Given the description of an element on the screen output the (x, y) to click on. 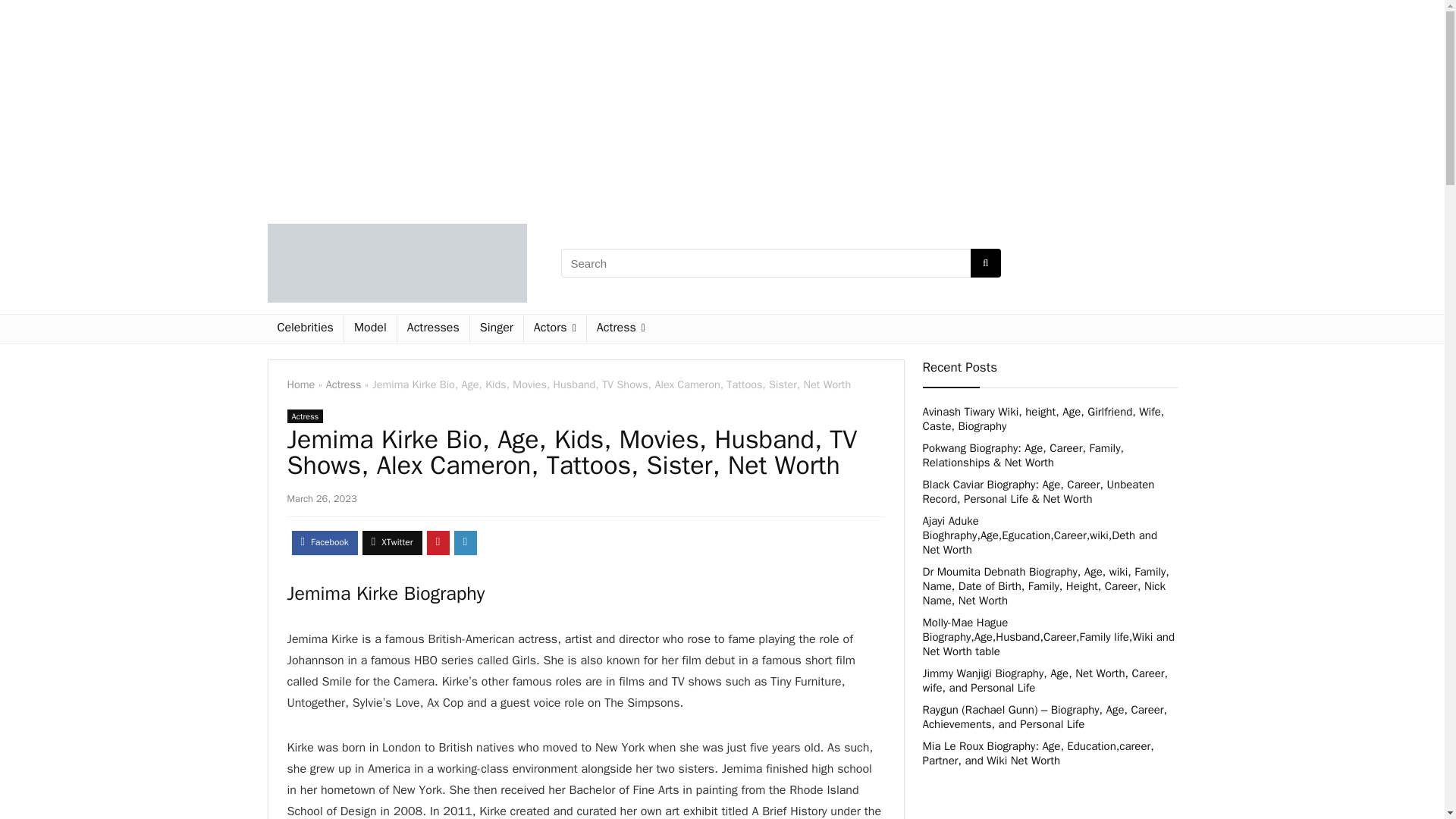
Actress (343, 384)
Actresses (432, 328)
Celebrities (304, 328)
Singer (496, 328)
View all posts in Actress (304, 416)
Actors (555, 328)
Actress (620, 328)
